Given the description of an element on the screen output the (x, y) to click on. 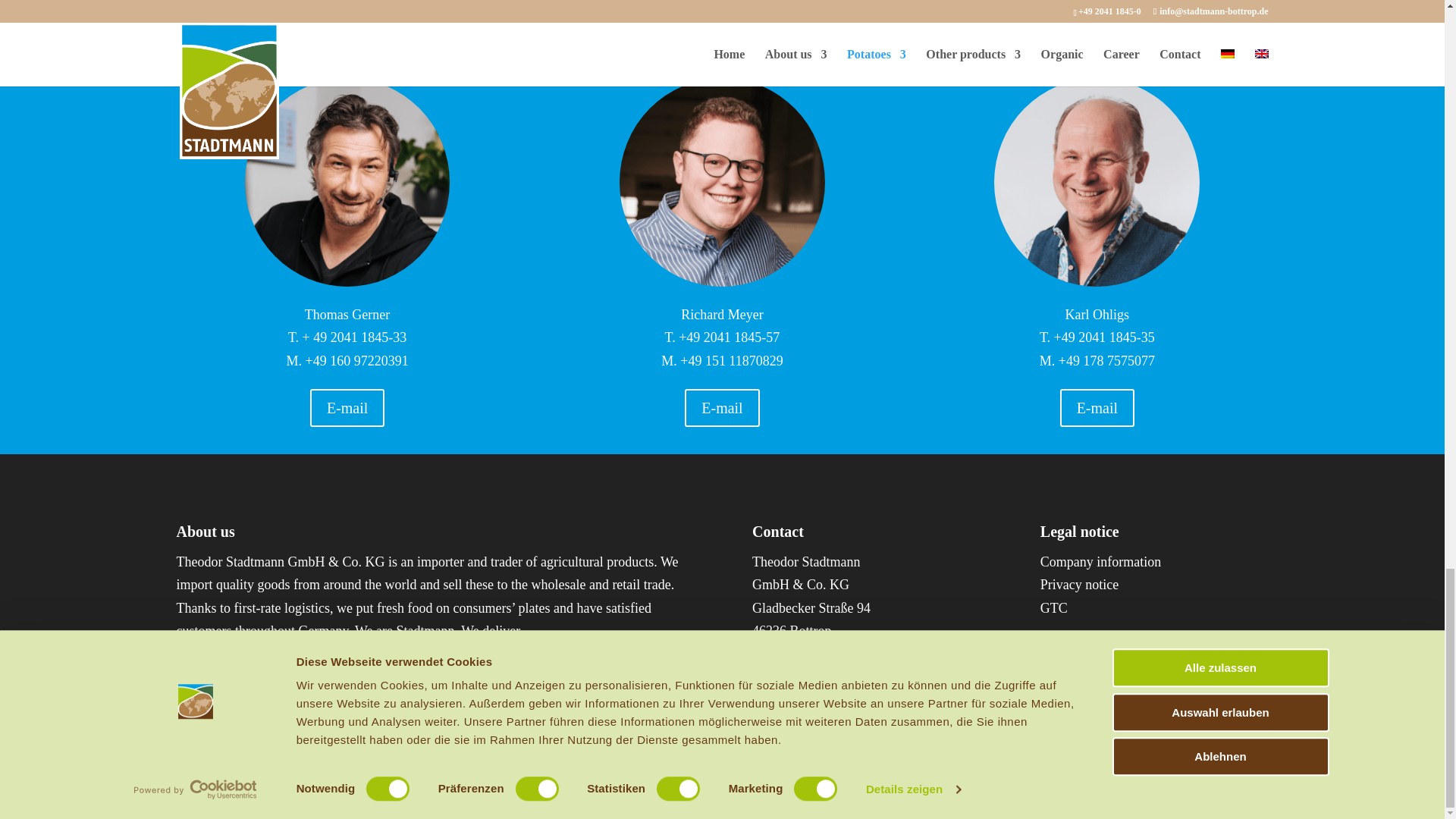
Gerner (346, 181)
Ohligs (1096, 181)
Mayer (722, 181)
